Given the description of an element on the screen output the (x, y) to click on. 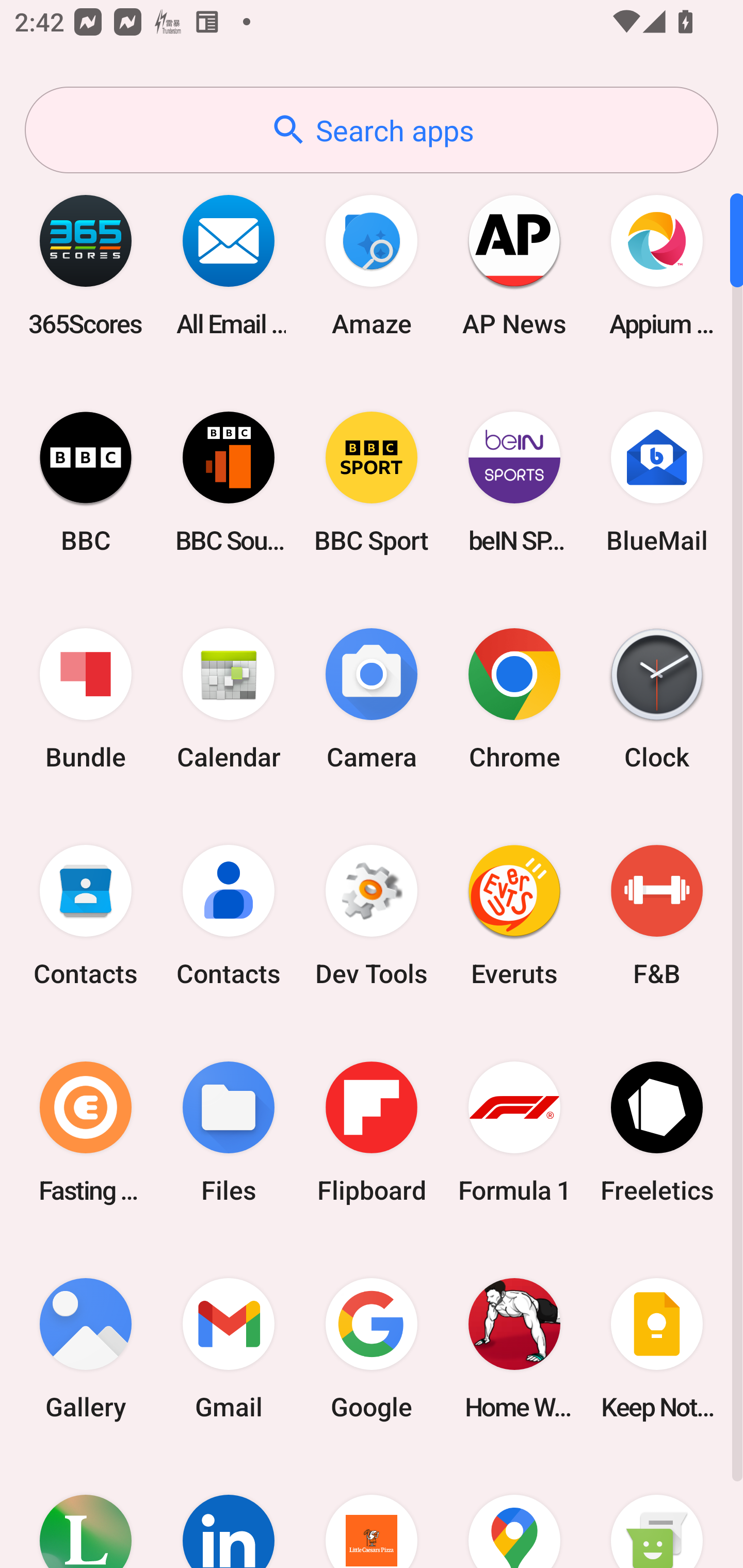
  Search apps (371, 130)
365Scores (85, 264)
All Email Connect (228, 264)
Amaze (371, 264)
AP News (514, 264)
Appium Settings (656, 264)
BBC (85, 482)
BBC Sounds (228, 482)
BBC Sport (371, 482)
beIN SPORTS (514, 482)
BlueMail (656, 482)
Bundle (85, 699)
Calendar (228, 699)
Camera (371, 699)
Chrome (514, 699)
Clock (656, 699)
Contacts (85, 915)
Contacts (228, 915)
Dev Tools (371, 915)
Everuts (514, 915)
F&B (656, 915)
Fasting Coach (85, 1131)
Files (228, 1131)
Flipboard (371, 1131)
Formula 1 (514, 1131)
Freeletics (656, 1131)
Gallery (85, 1348)
Gmail (228, 1348)
Google (371, 1348)
Home Workout (514, 1348)
Keep Notes (656, 1348)
